Given the description of an element on the screen output the (x, y) to click on. 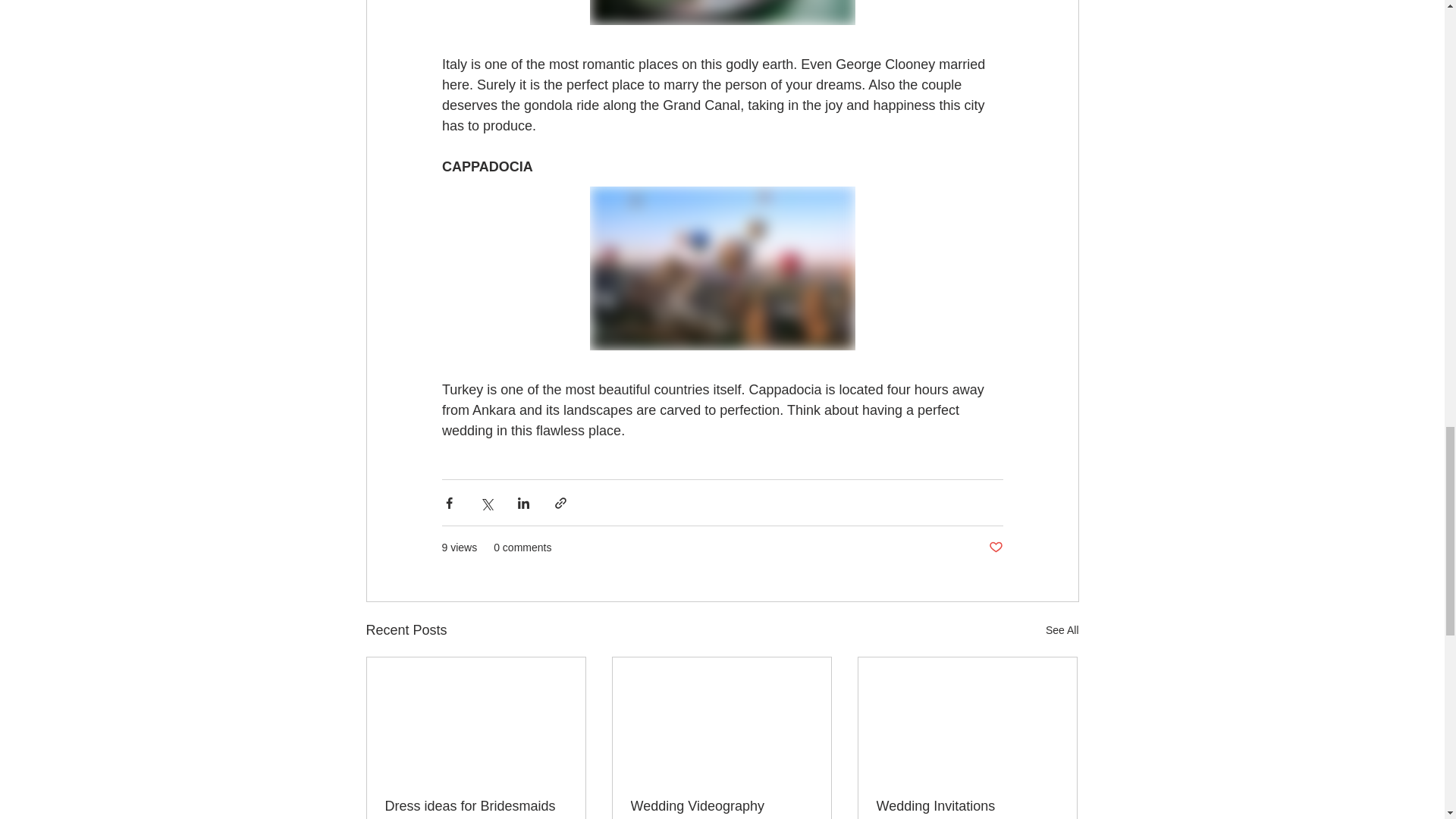
Post not marked as liked (995, 547)
Wedding Videography (721, 806)
Wedding Invitations (967, 806)
See All (1061, 630)
Dress ideas for Bridesmaids (476, 806)
